Given the description of an element on the screen output the (x, y) to click on. 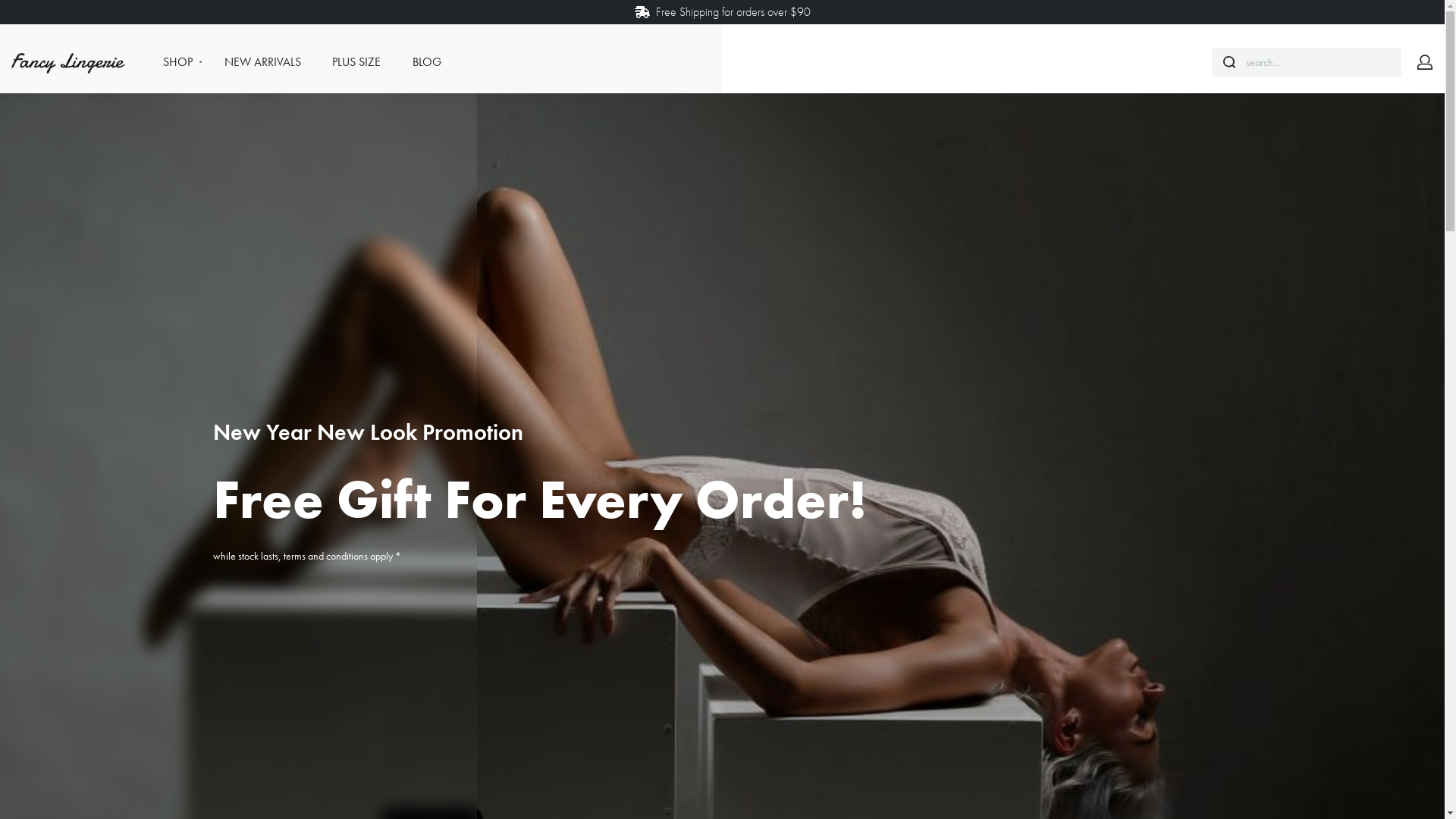
PLUS SIZE Element type: text (356, 61)
BLOG Element type: text (426, 61)
NEW ARRIVALS Element type: text (262, 61)
SHOP Element type: text (177, 61)
